Given the description of an element on the screen output the (x, y) to click on. 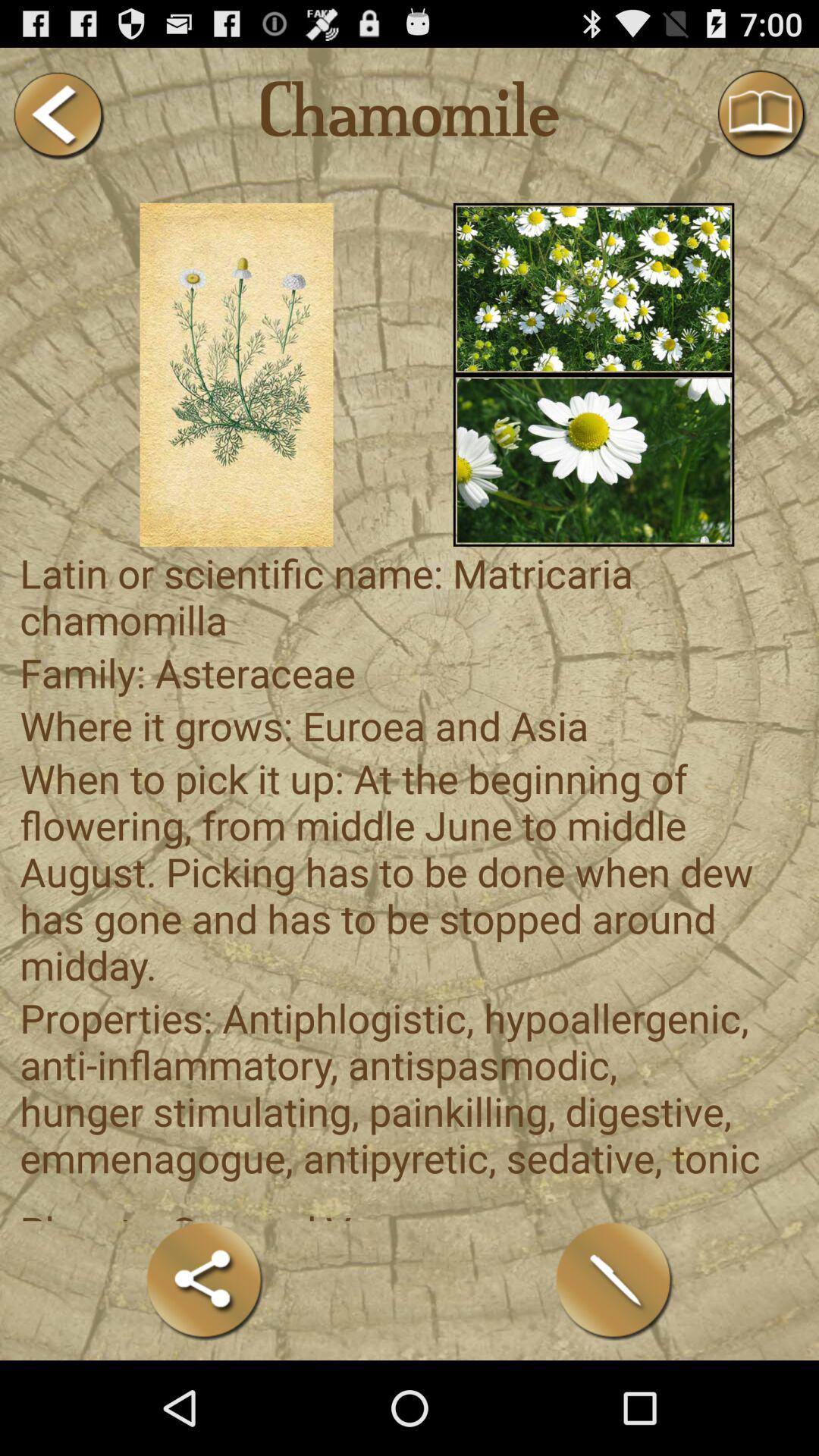
this image was sun flower (593, 460)
